Given the description of an element on the screen output the (x, y) to click on. 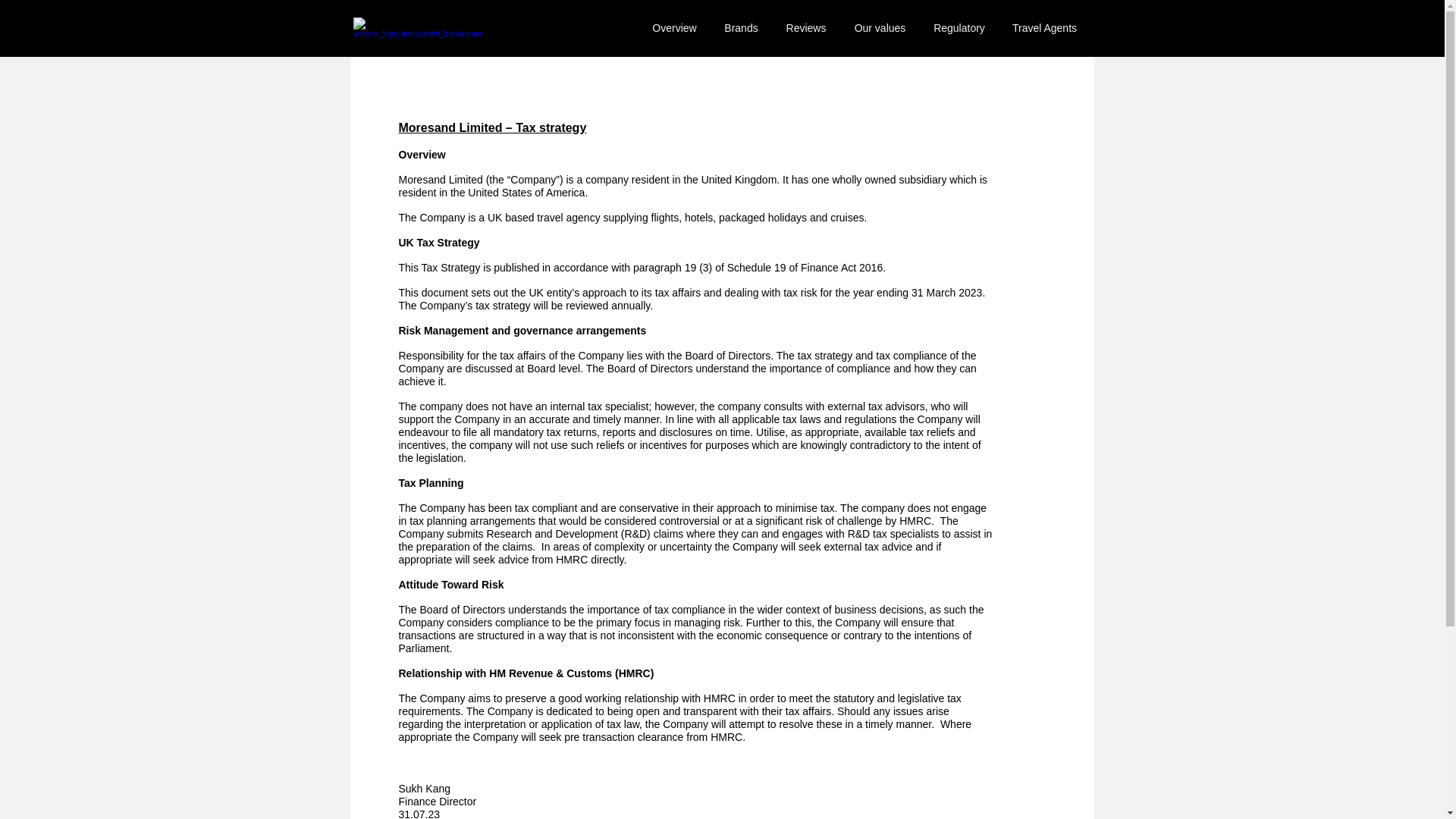
Brands (740, 27)
Travel Agents (1043, 27)
Reviews (805, 27)
Regulatory (957, 27)
Overview (674, 27)
Our values (880, 27)
